Given the description of an element on the screen output the (x, y) to click on. 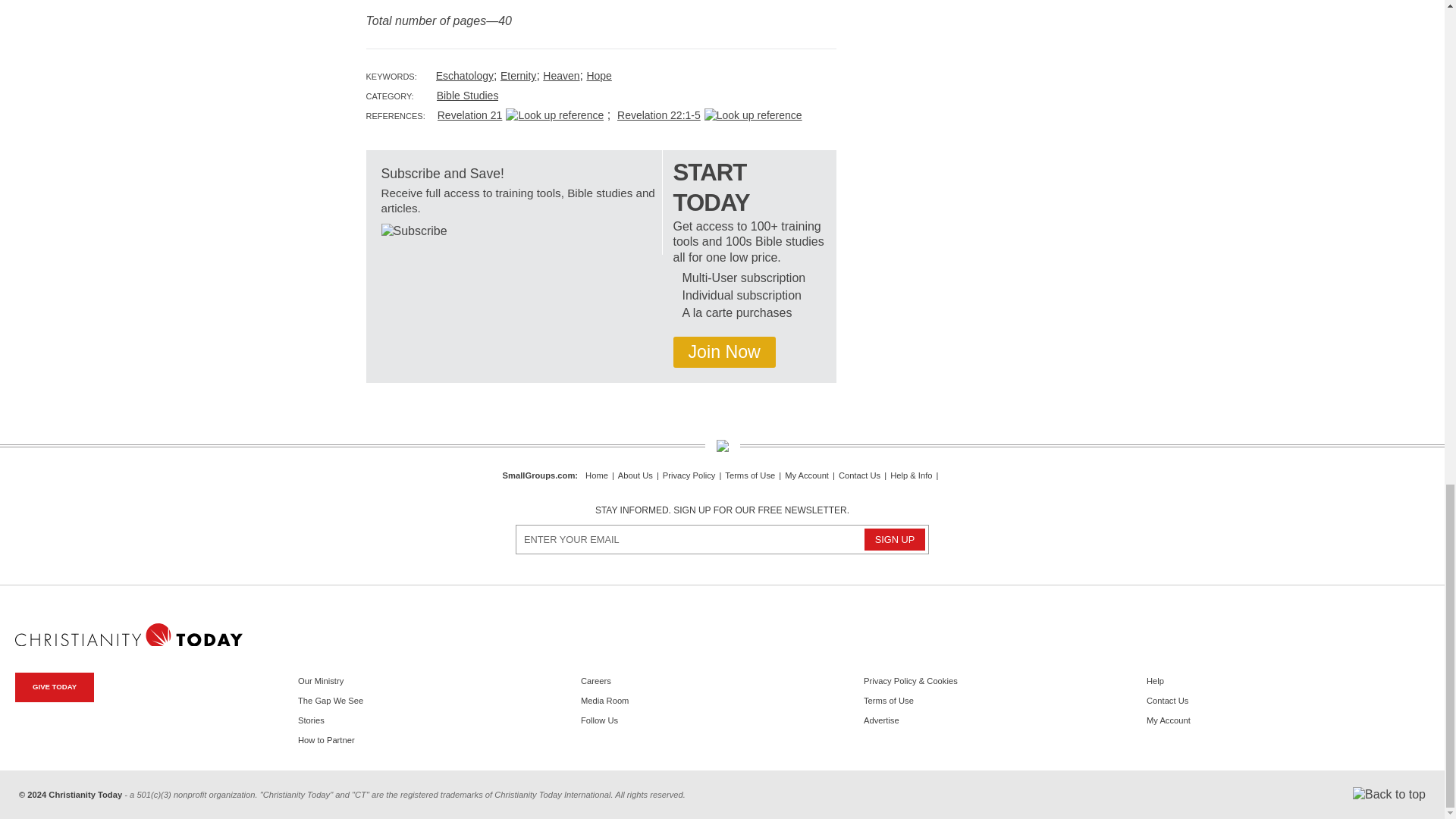
Sign Up (894, 539)
Subscribe (413, 231)
Look up reference (554, 115)
Look up reference (753, 115)
